Given the description of an element on the screen output the (x, y) to click on. 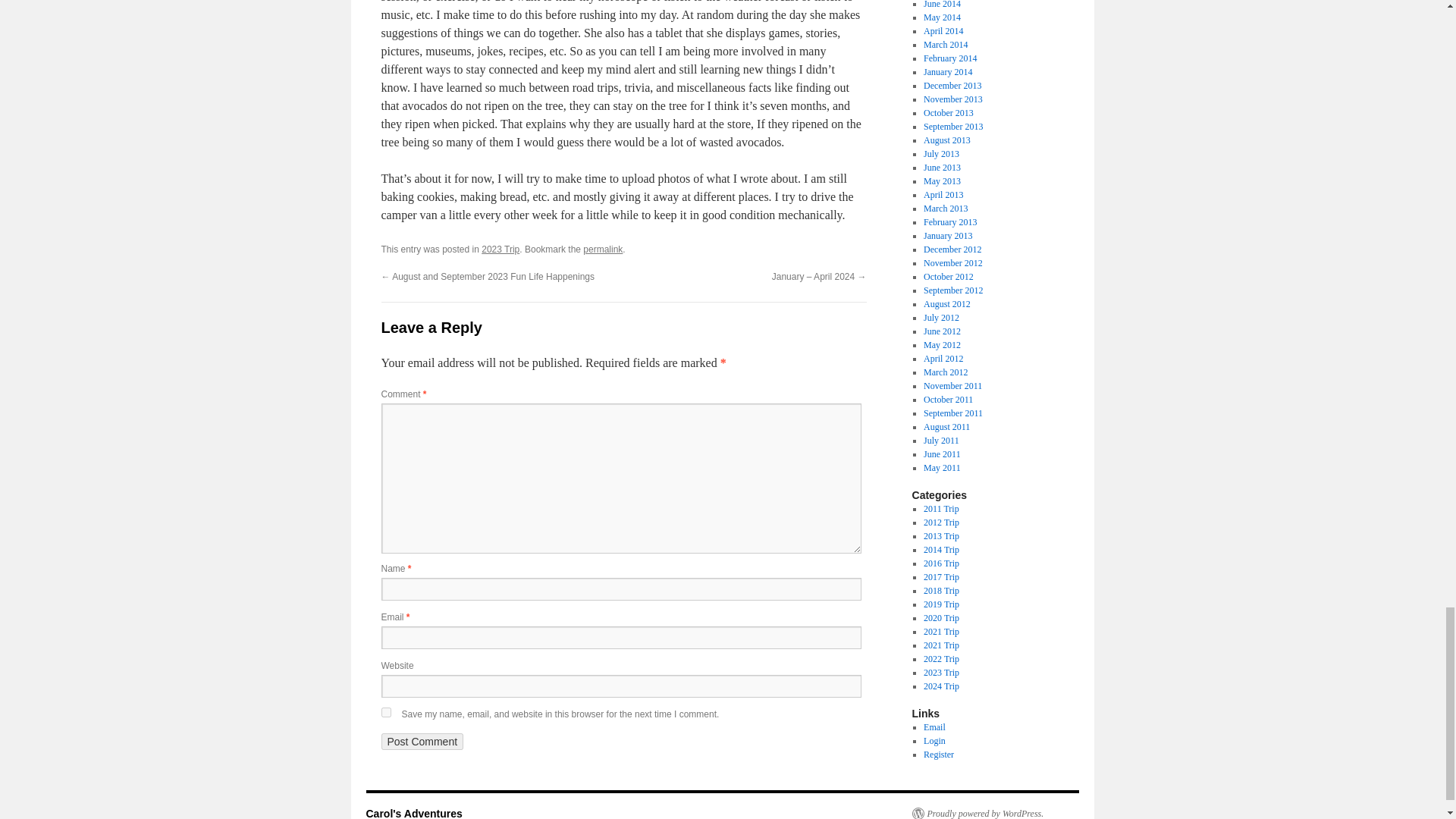
yes (385, 712)
Post Comment (421, 741)
2023 Trip (500, 249)
Post Comment (421, 741)
permalink (603, 249)
